Given the description of an element on the screen output the (x, y) to click on. 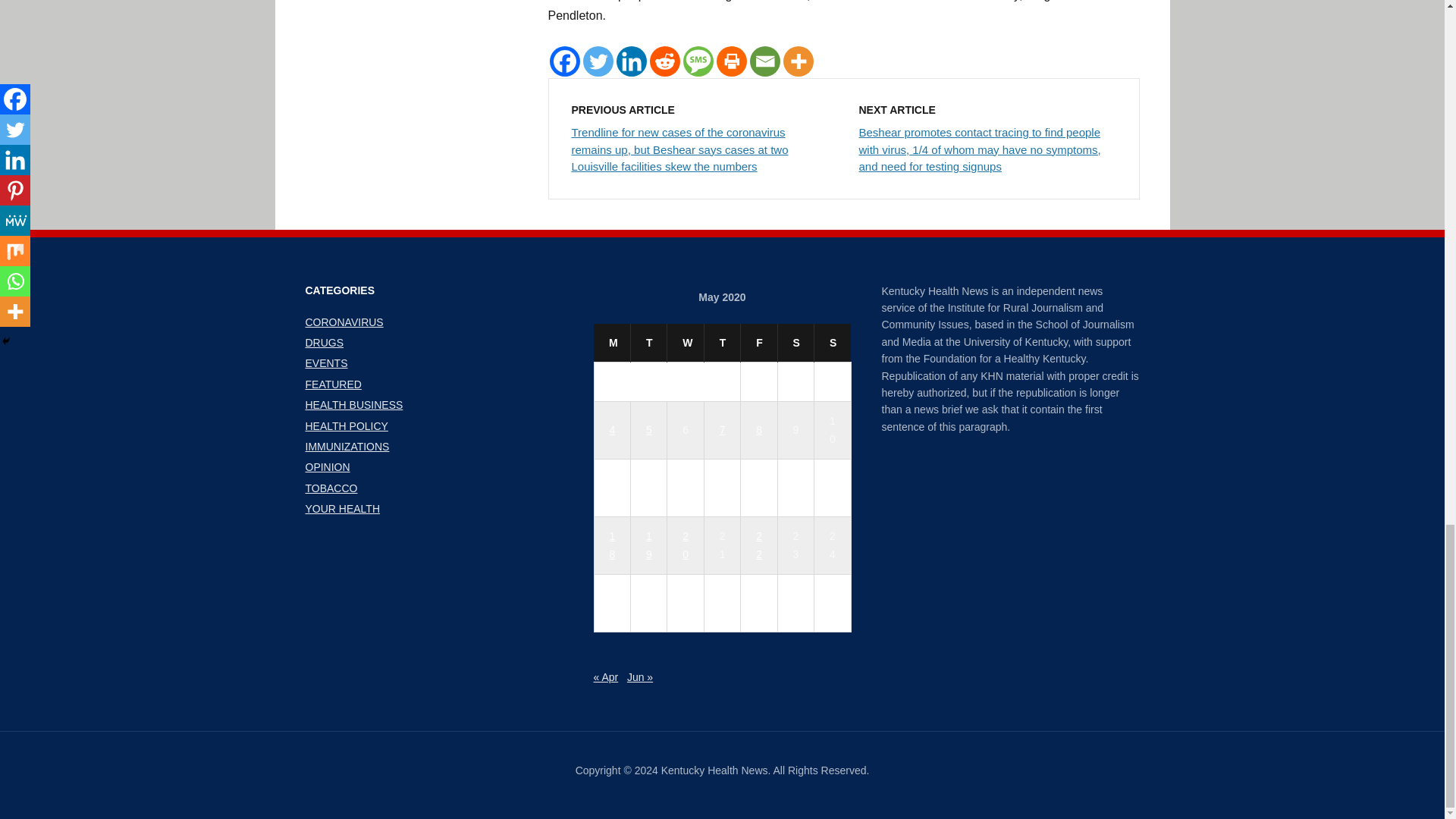
Facebook (563, 60)
More (797, 60)
SMS (697, 60)
Linkedin (630, 60)
Reddit (664, 60)
Email (763, 60)
Twitter (597, 60)
Print (730, 60)
